Given the description of an element on the screen output the (x, y) to click on. 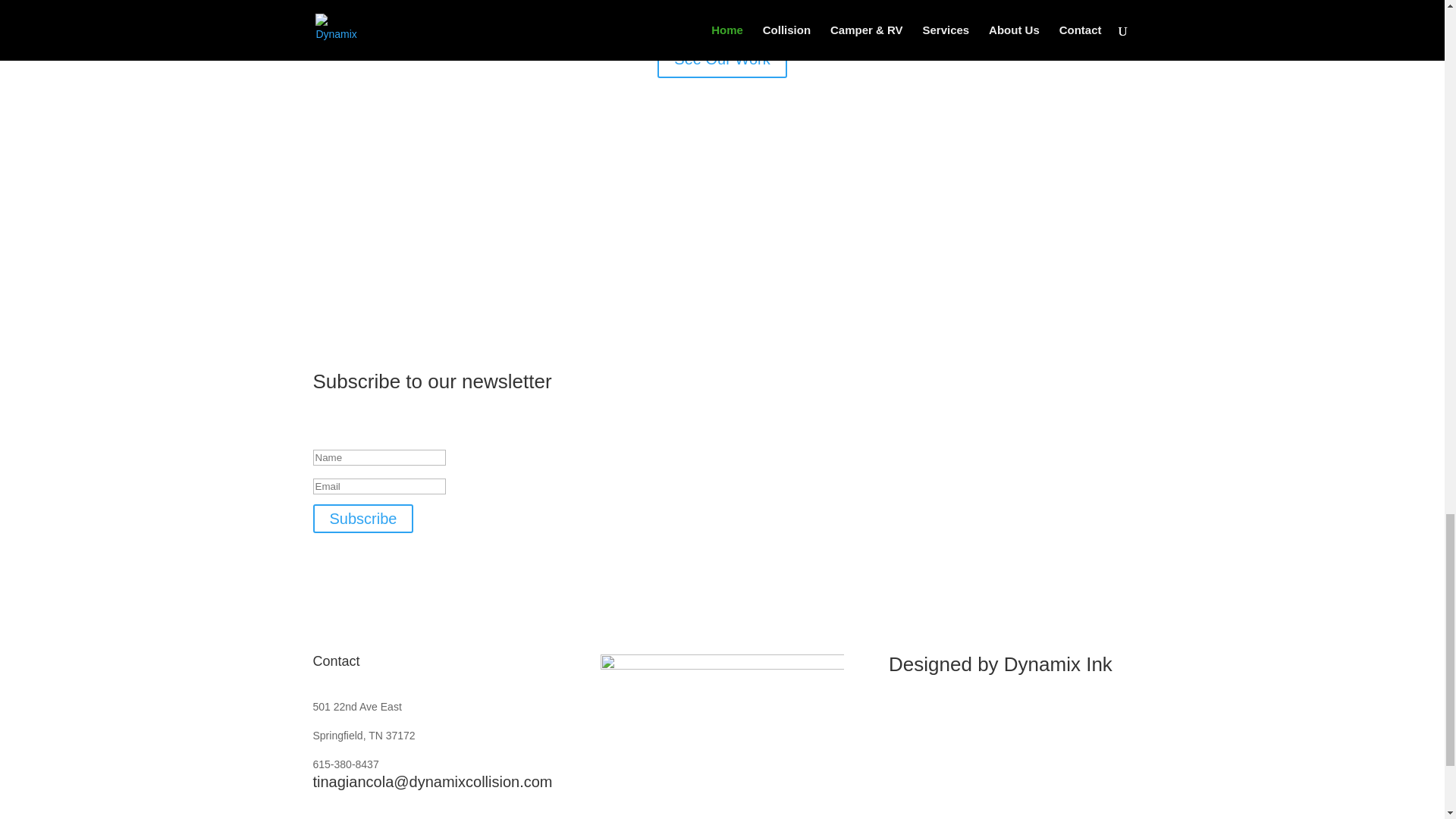
Map (721, 736)
Subscribe (363, 518)
See Our Work (722, 58)
